Given the description of an element on the screen output the (x, y) to click on. 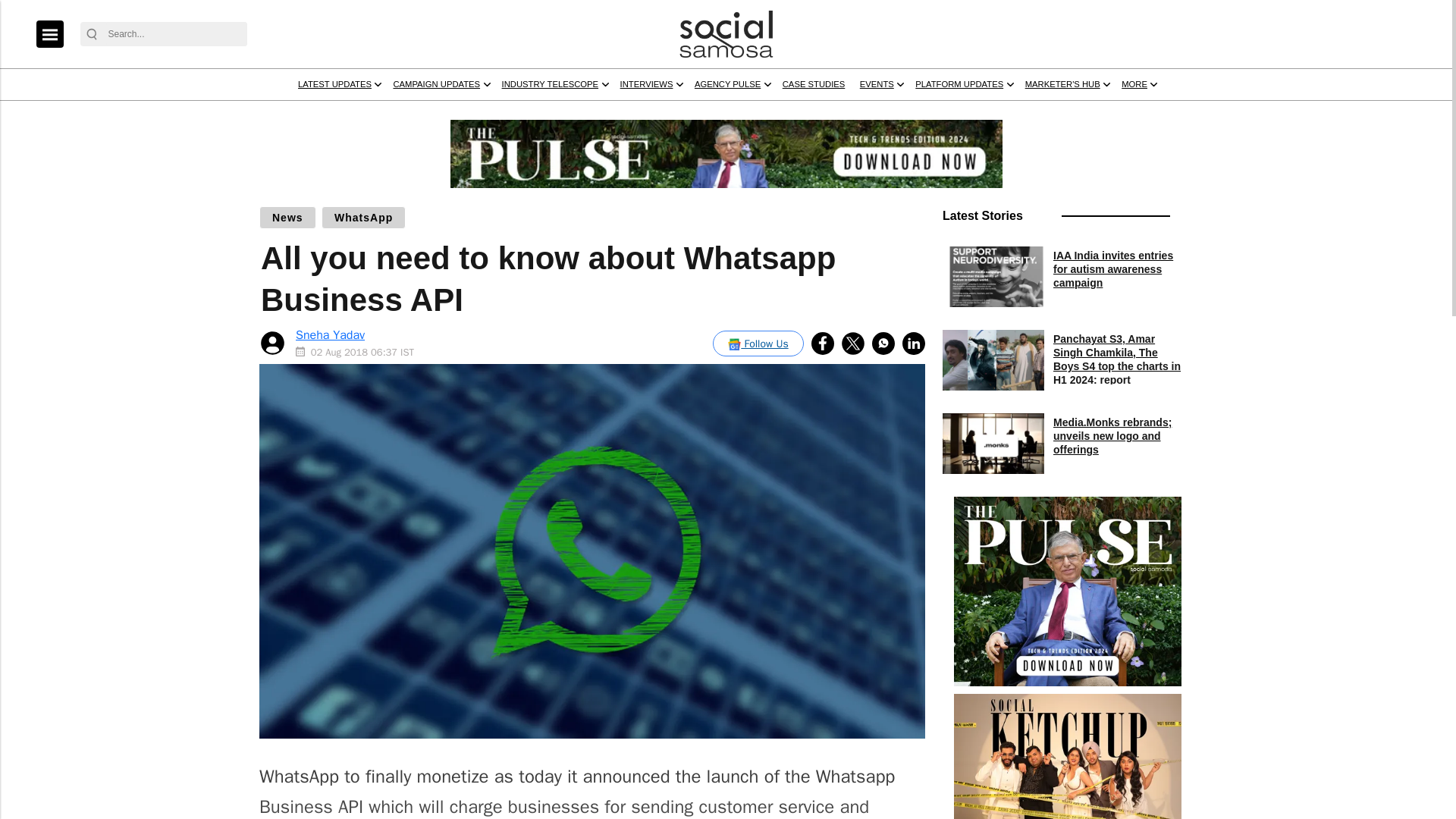
INTERVIEWS (861, 113)
CAMPAIGN UPDATES (582, 113)
AGENCY PULSE (969, 113)
EVENTS (1168, 113)
PLATFORM UPDATES (1278, 113)
CASE STUDIES (1085, 113)
LATEST UPDATES (446, 113)
INDUSTRY TELESCOPE (732, 113)
